Given the description of an element on the screen output the (x, y) to click on. 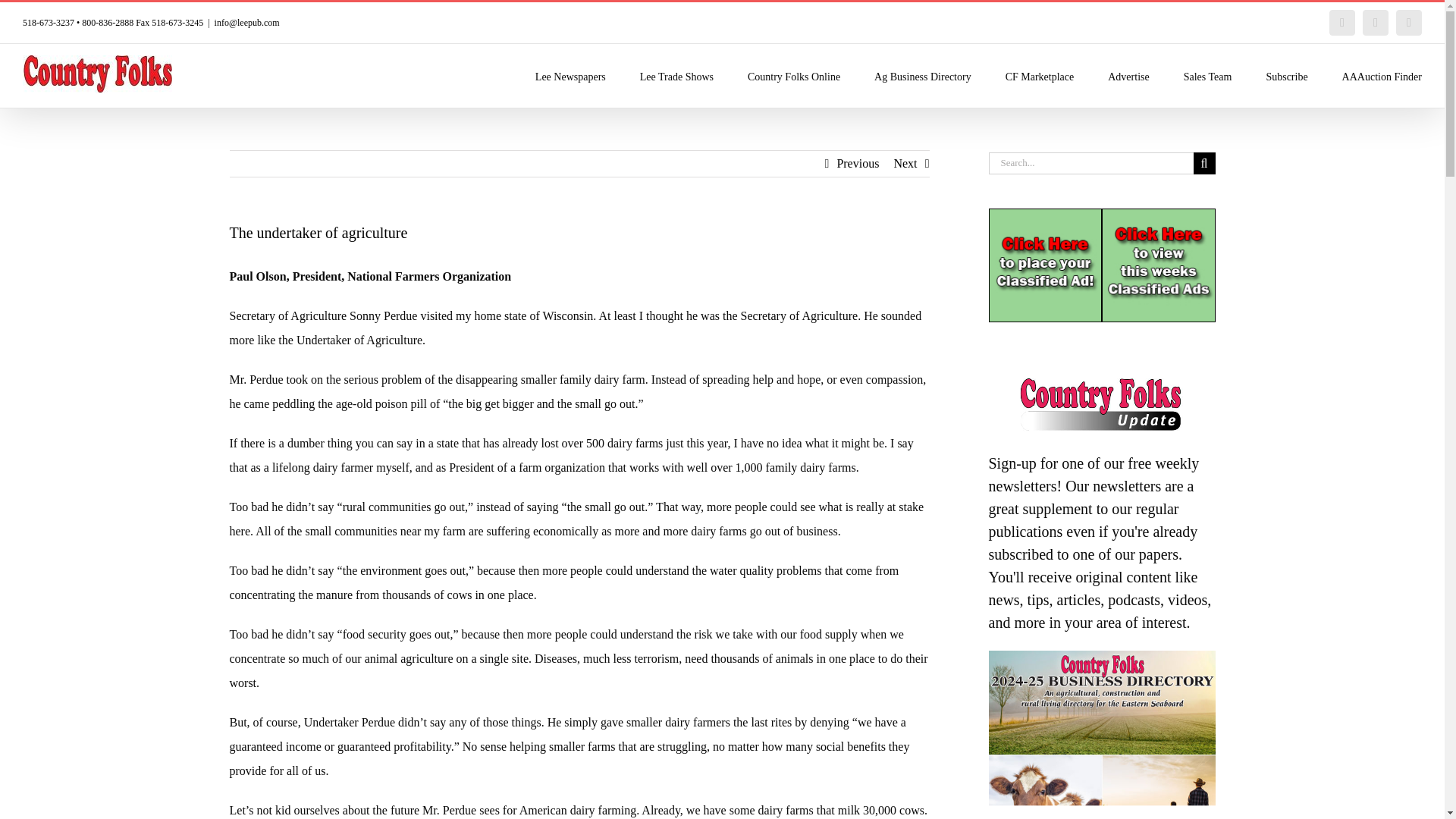
Lee Trade Shows (676, 75)
Twitter (1375, 22)
Facebook (1342, 22)
Ag Business Directory (923, 75)
Facebook (1342, 22)
Twitter (1375, 22)
Lee Newspapers (570, 75)
Instagram (1409, 22)
CF Marketplace (1040, 75)
Instagram (1409, 22)
